Given the description of an element on the screen output the (x, y) to click on. 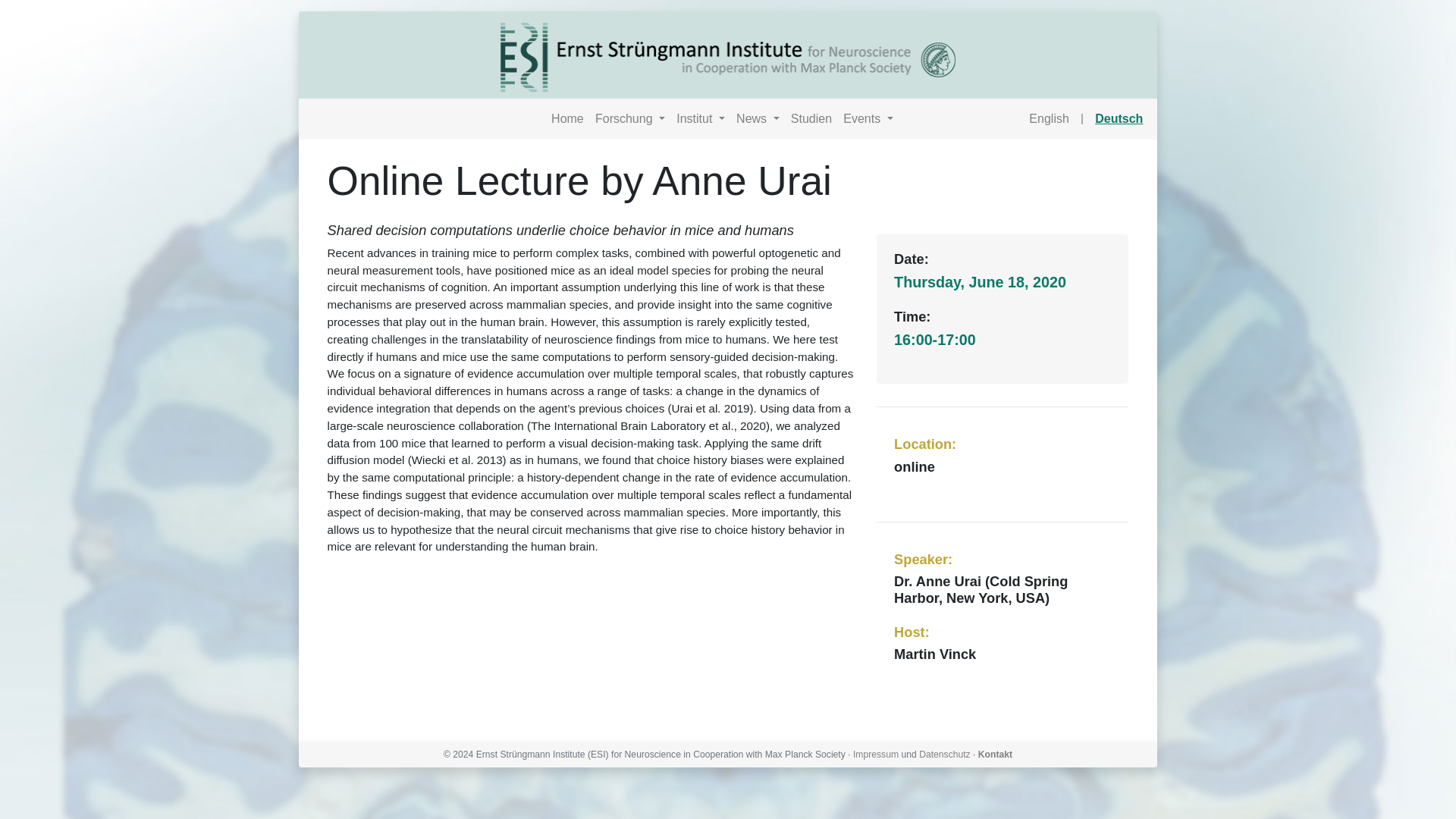
English (1049, 118)
Events (868, 118)
Forschung (629, 118)
Home (566, 118)
Deutsch (1118, 118)
News (758, 118)
Institut (700, 118)
Studien (810, 118)
